Given the description of an element on the screen output the (x, y) to click on. 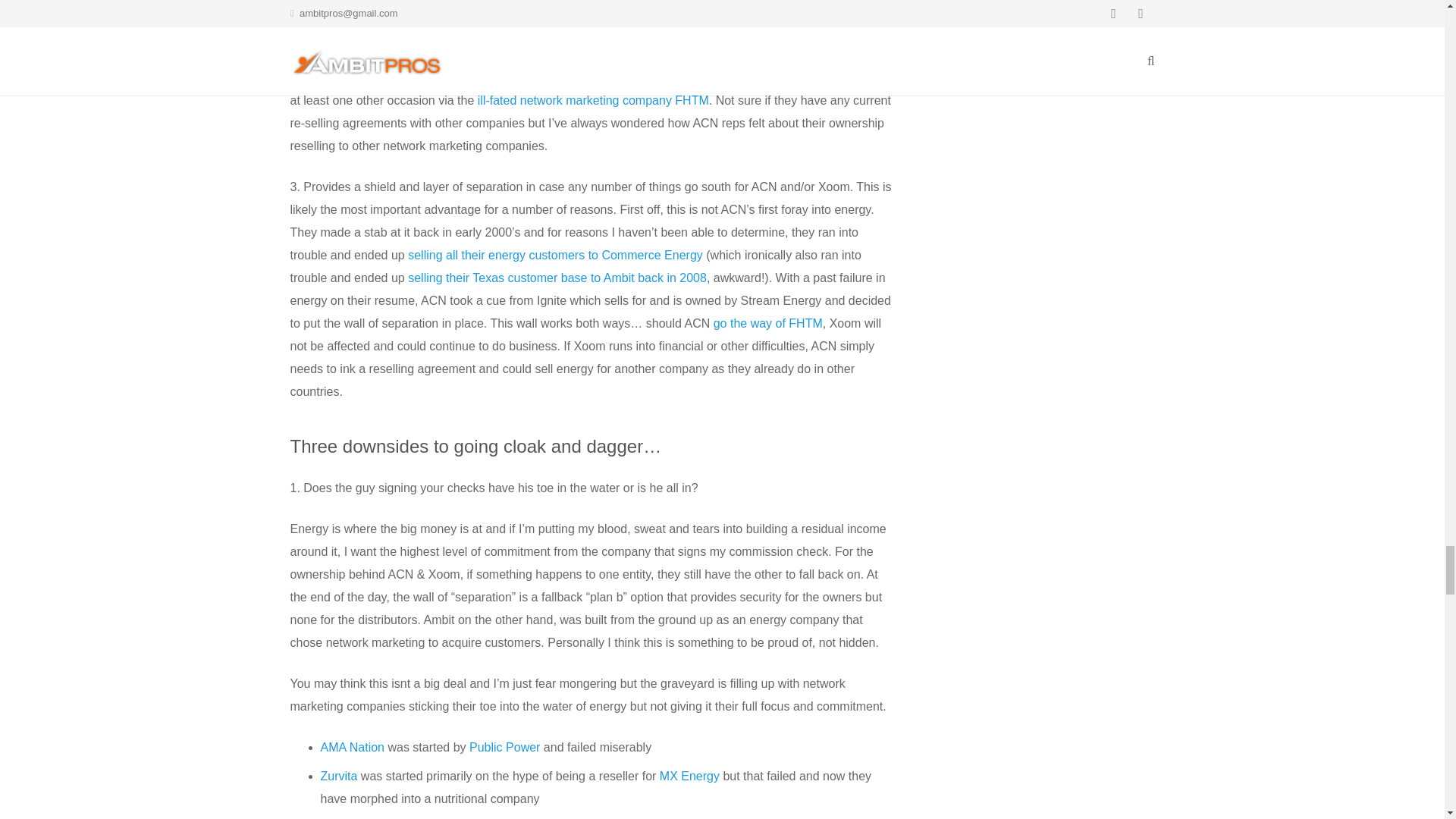
selling their Texas customer base to Ambit back in 2008 (556, 277)
selling all their energy customers to Commerce Energy (555, 254)
ill-fated network marketing company FHTM (593, 100)
go the way of FHTM (767, 323)
Zurvita (338, 775)
MX Energy (689, 775)
AMA Nation (352, 747)
Public Power (504, 747)
